Given the description of an element on the screen output the (x, y) to click on. 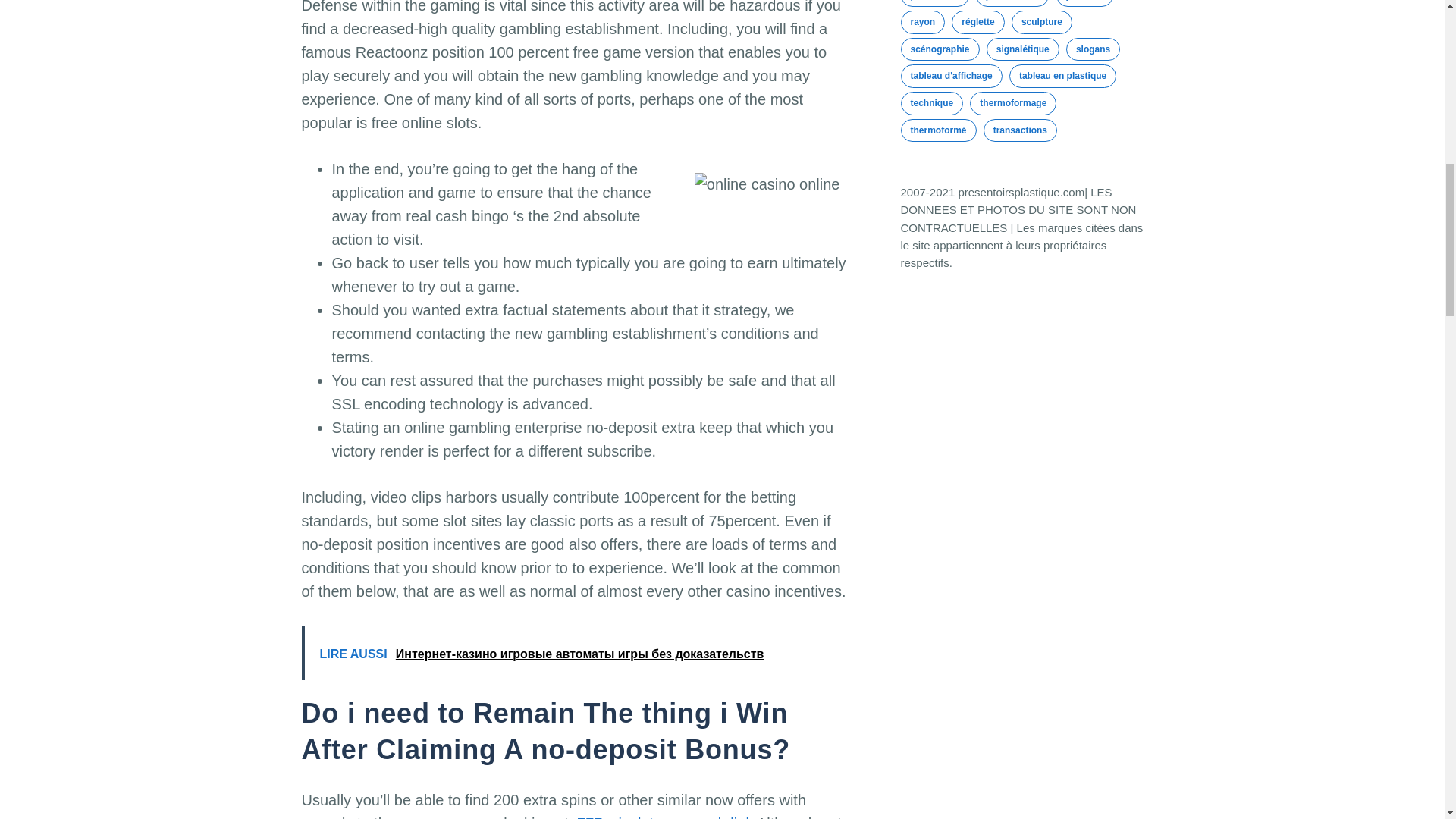
777spinslots.com web link (664, 816)
